Given the description of an element on the screen output the (x, y) to click on. 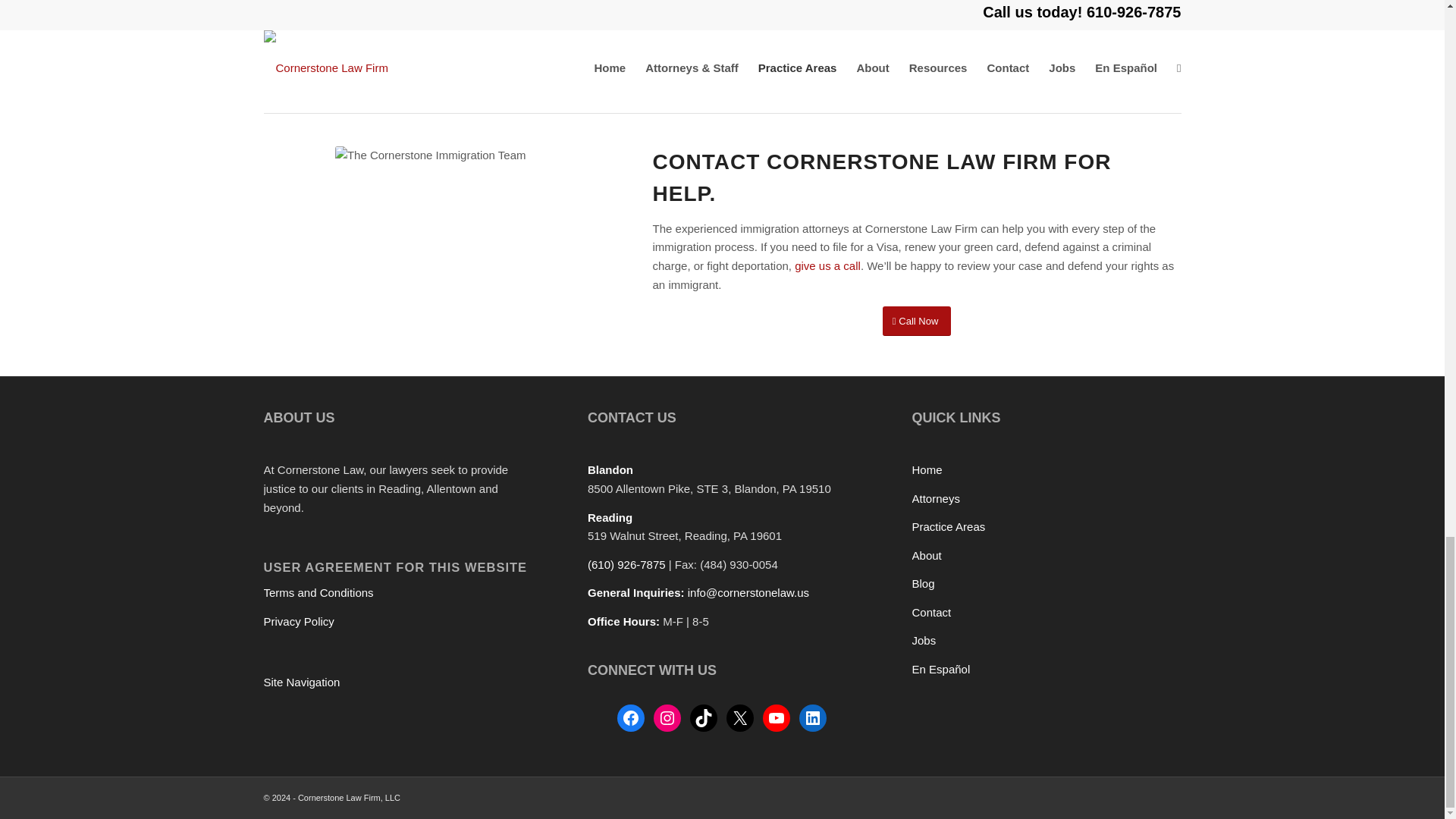
Port of Entry (357, 40)
Immigration team (429, 155)
